Given the description of an element on the screen output the (x, y) to click on. 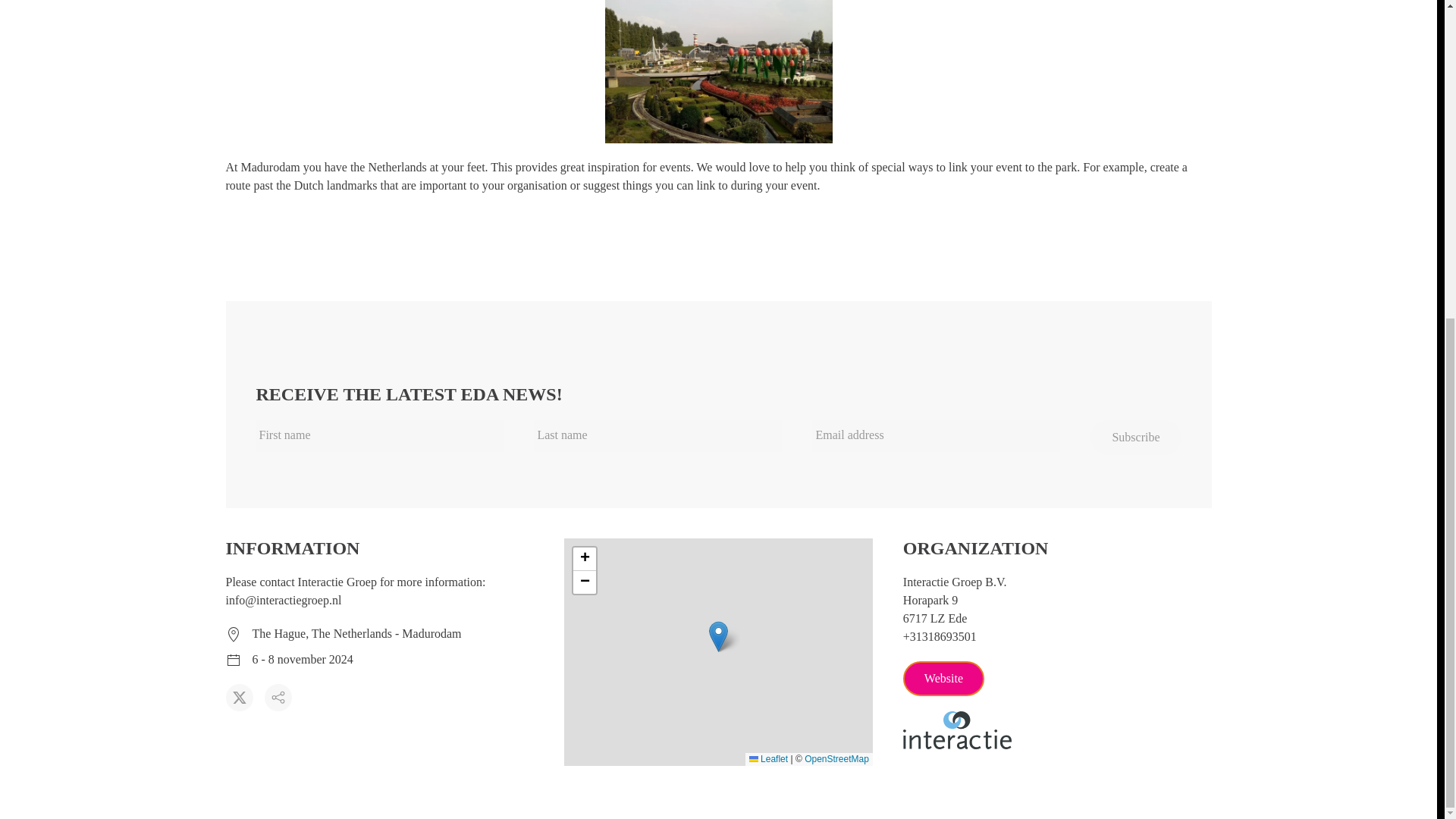
Subscribe (1135, 437)
Zoom in (584, 558)
A JavaScript library for interactive maps (768, 758)
Zoom out (584, 581)
